Given the description of an element on the screen output the (x, y) to click on. 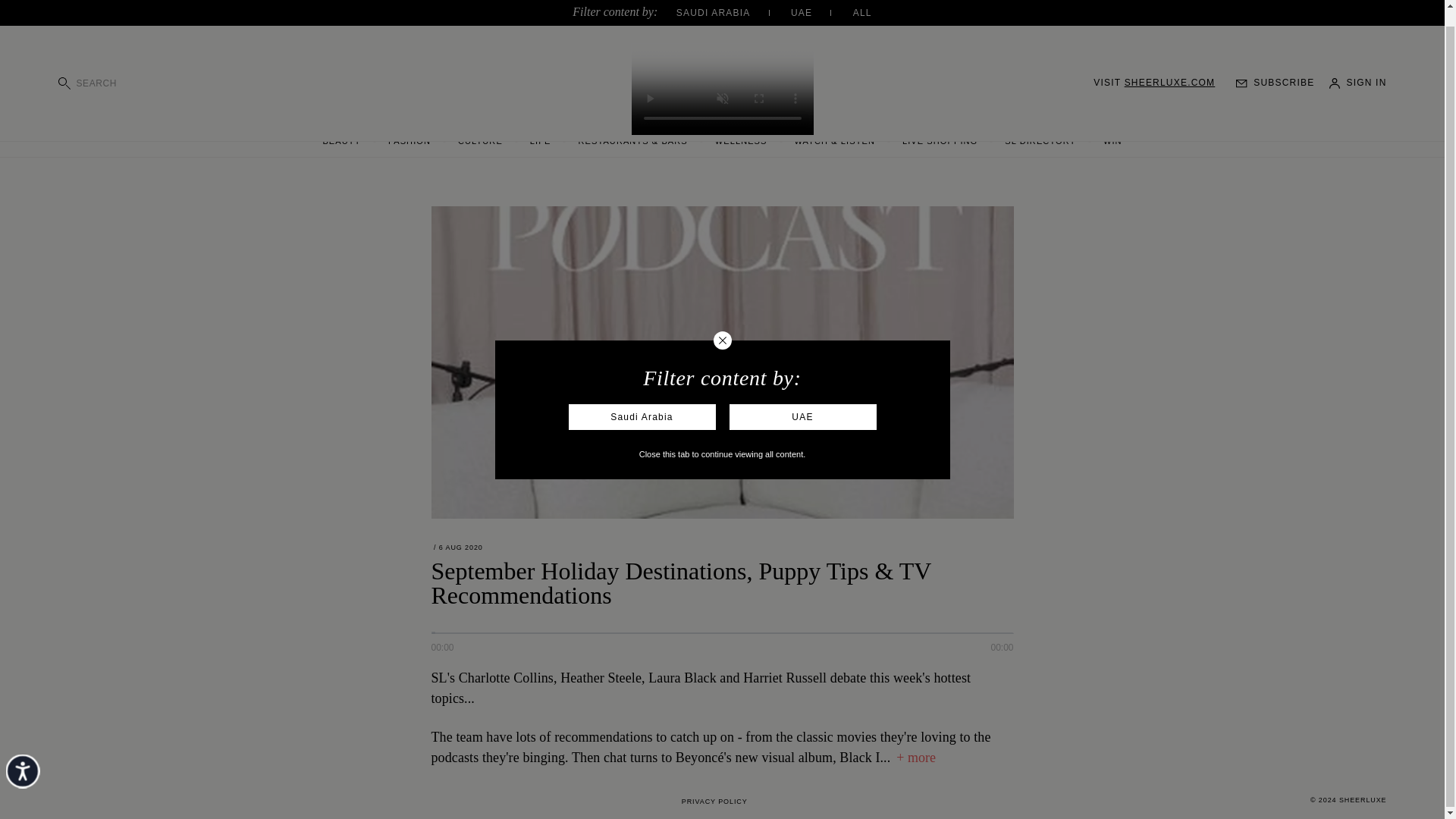
Accessibility (39, 771)
UAE (819, 4)
ALL (862, 4)
Enter the terms you wish to search for. (141, 69)
SAUDI ARABIA (732, 4)
